Given the description of an element on the screen output the (x, y) to click on. 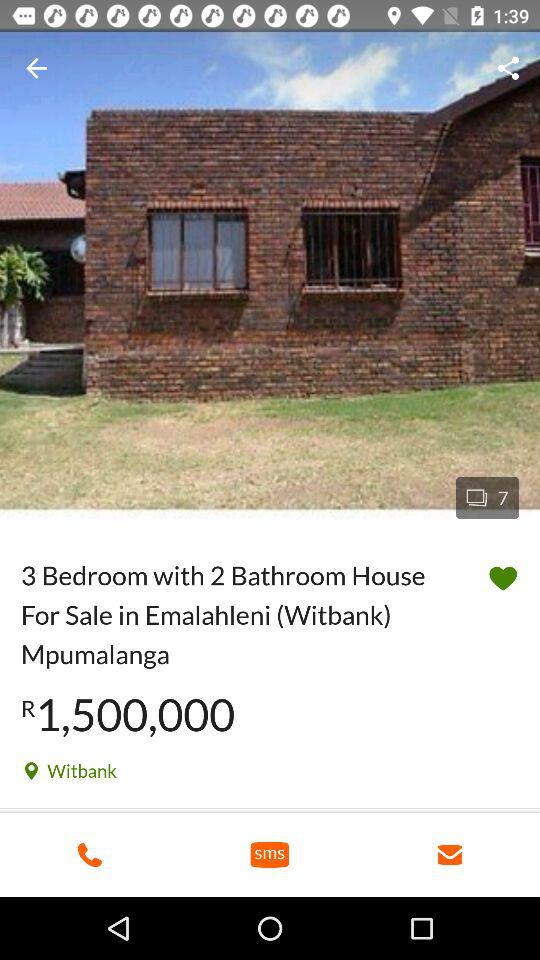
click on message icon which is at the bottom right corner of the page (450, 854)
select the logo beside witbank (31, 771)
click on the heart symbol which is below the image (503, 578)
go to sms (269, 854)
